Given the description of an element on the screen output the (x, y) to click on. 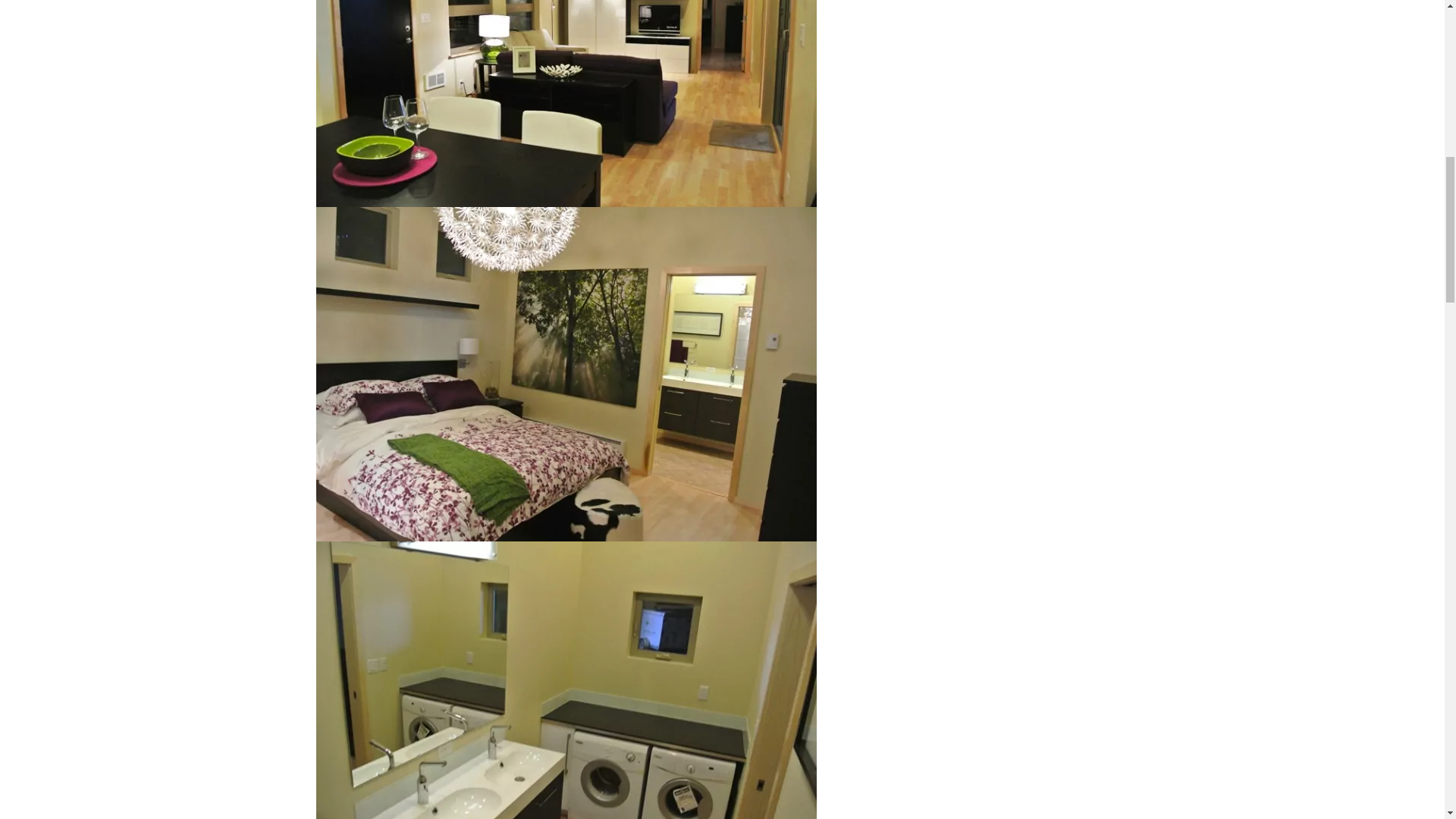
ikea designrulz-00 (565, 103)
ikea designrulz-003 (565, 372)
ikea designrulz-00 (565, 38)
ikea designrulz-005 (565, 707)
